Given the description of an element on the screen output the (x, y) to click on. 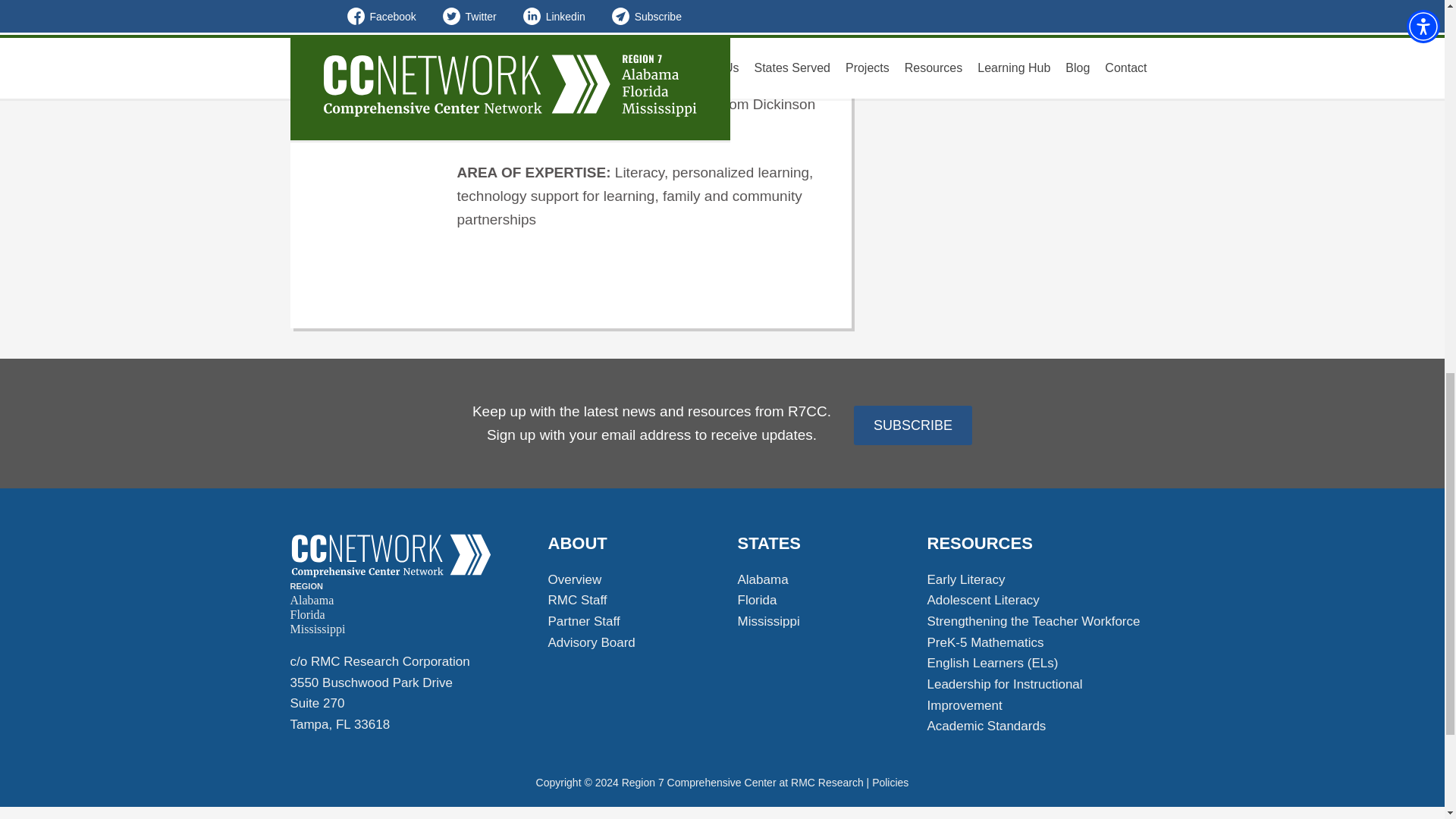
Diana Sharp (390, 555)
